Given the description of an element on the screen output the (x, y) to click on. 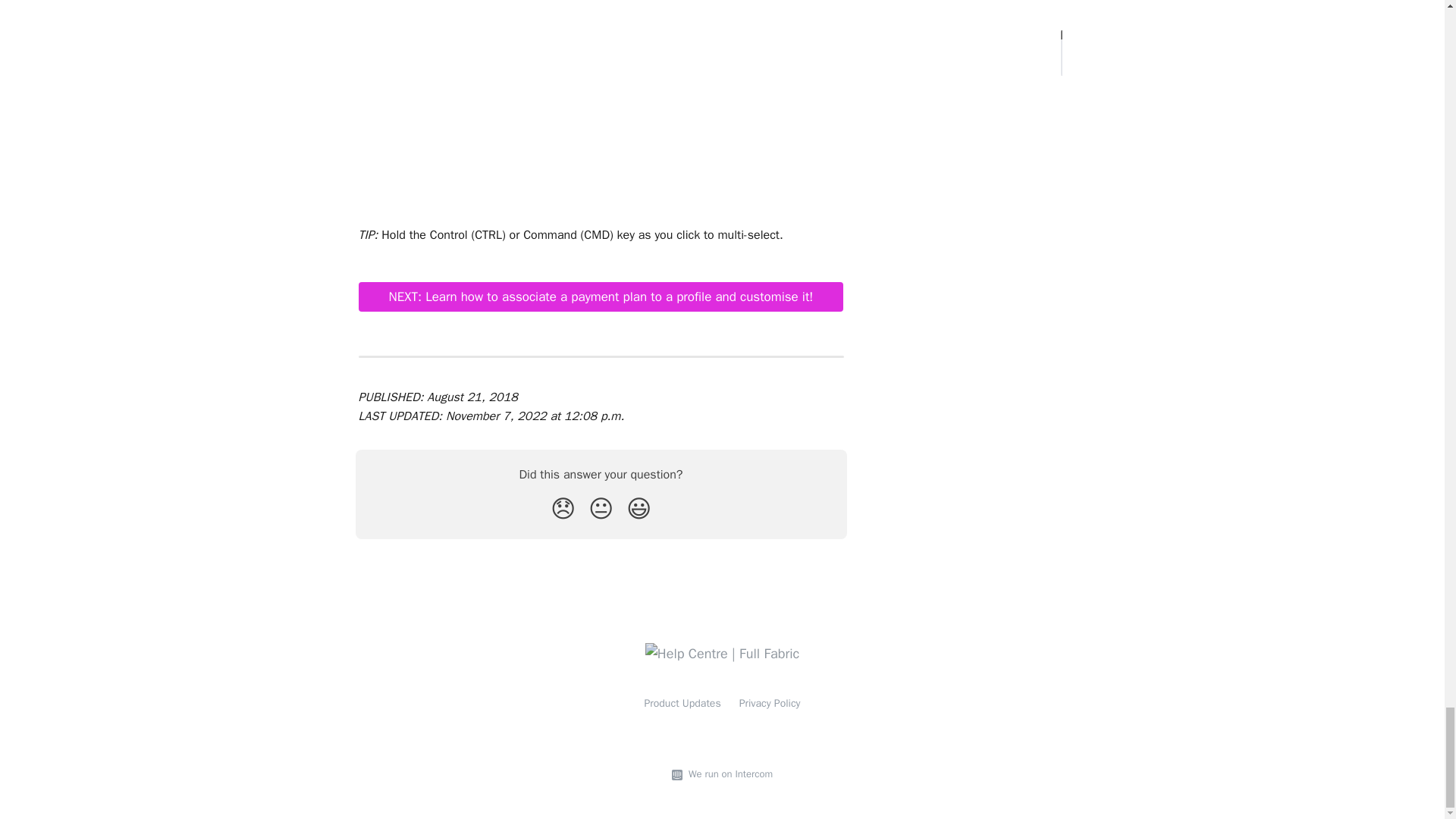
Neutral (600, 508)
Disappointed (562, 508)
Smiley (638, 508)
